Given the description of an element on the screen output the (x, y) to click on. 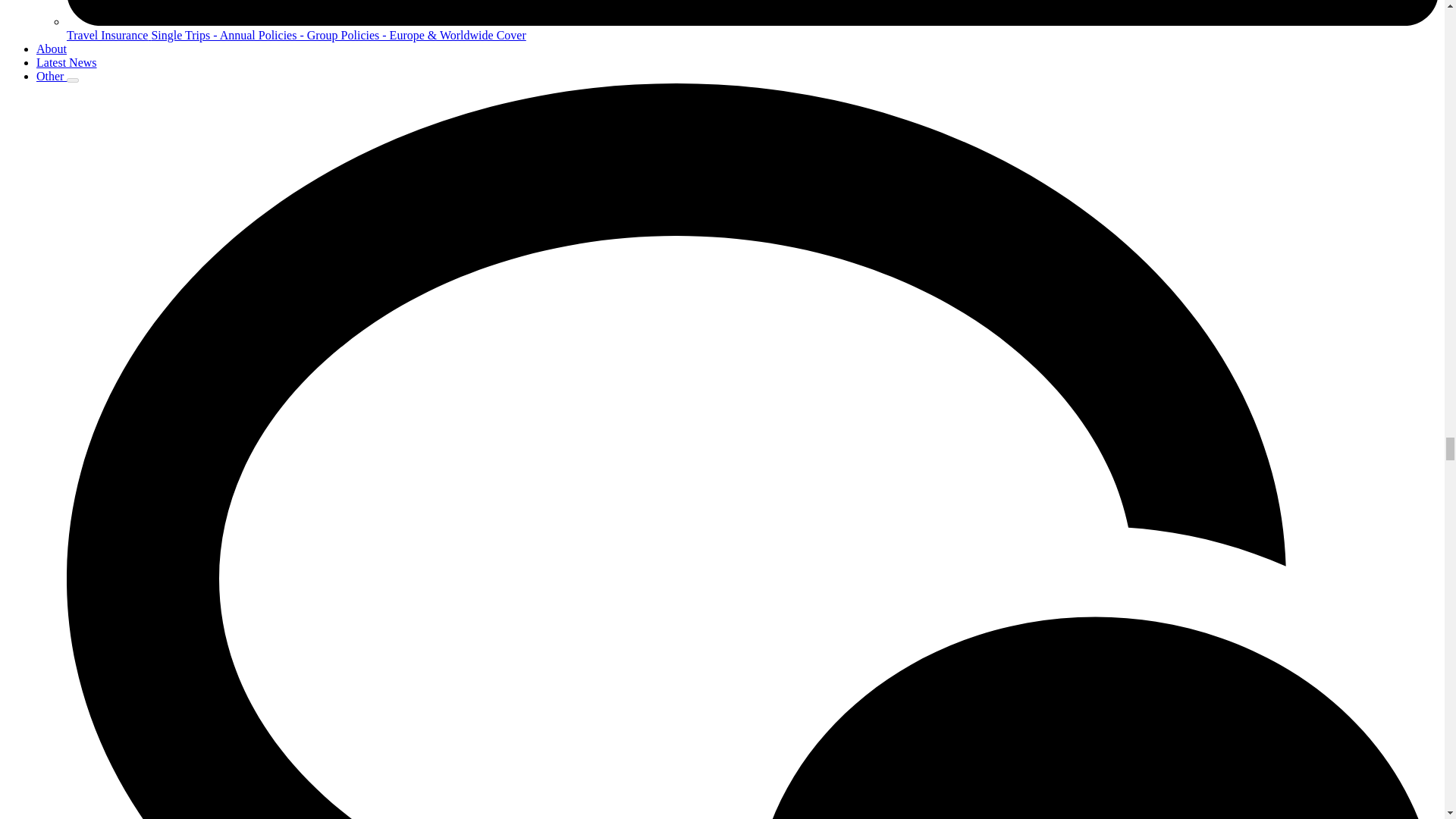
About (51, 48)
Latest News (66, 62)
Other (51, 75)
